Given the description of an element on the screen output the (x, y) to click on. 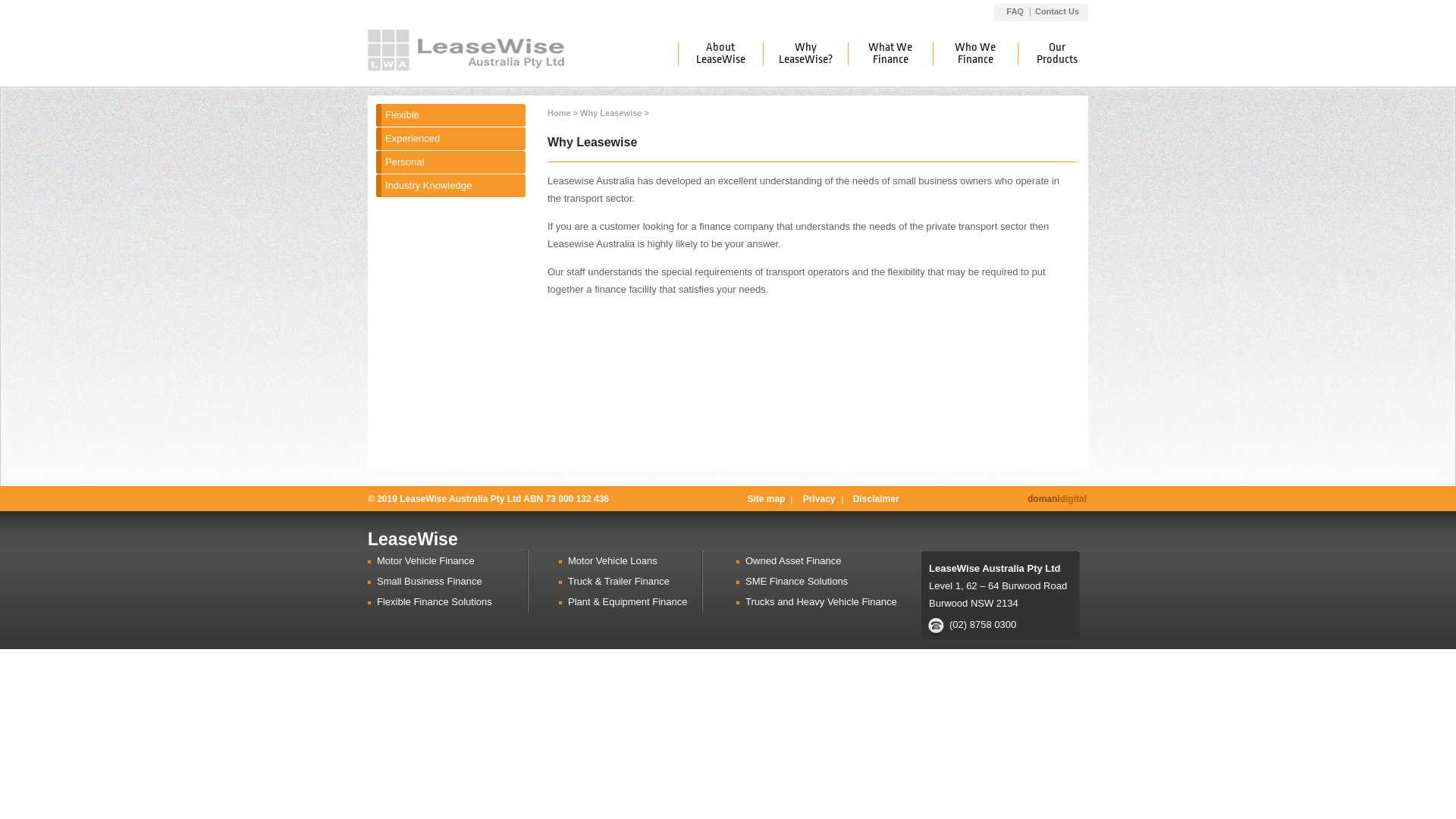
Experienced Element type: text (455, 138)
Motor Vehicle Finance Element type: text (452, 560)
Our Products Element type: text (1051, 53)
LeaseWise Australia Pty Ltd Element type: hover (465, 51)
Skip to content Element type: text (0, 0)
domanidigital Element type: text (1056, 498)
FAQ Element type: text (1013, 10)
Motor Vehicle Loans Element type: text (634, 560)
Who We Finance Element type: text (974, 53)
About LeaseWise Element type: text (719, 53)
Home Element type: text (559, 112)
Disclaimer Element type: text (875, 498)
Small Business Finance Element type: text (452, 581)
Owned Asset Finance Element type: text (833, 560)
Why LeaseWise? Element type: text (804, 53)
Plant & Equipment Finance Element type: text (634, 601)
Personal Element type: text (455, 161)
Contact Us Element type: text (1055, 10)
What We Finance Element type: text (889, 53)
Why Leasewise Element type: text (610, 112)
Flexible Finance Solutions Element type: text (452, 601)
Flexible Element type: text (455, 114)
Trucks and Heavy Vehicle Finance Element type: text (833, 601)
Industry Knowledge Element type: text (455, 185)
Site map Element type: text (765, 498)
Truck & Trailer Finance Element type: text (634, 581)
Privacy Element type: text (819, 498)
SME Finance Solutions Element type: text (833, 581)
